Given the description of an element on the screen output the (x, y) to click on. 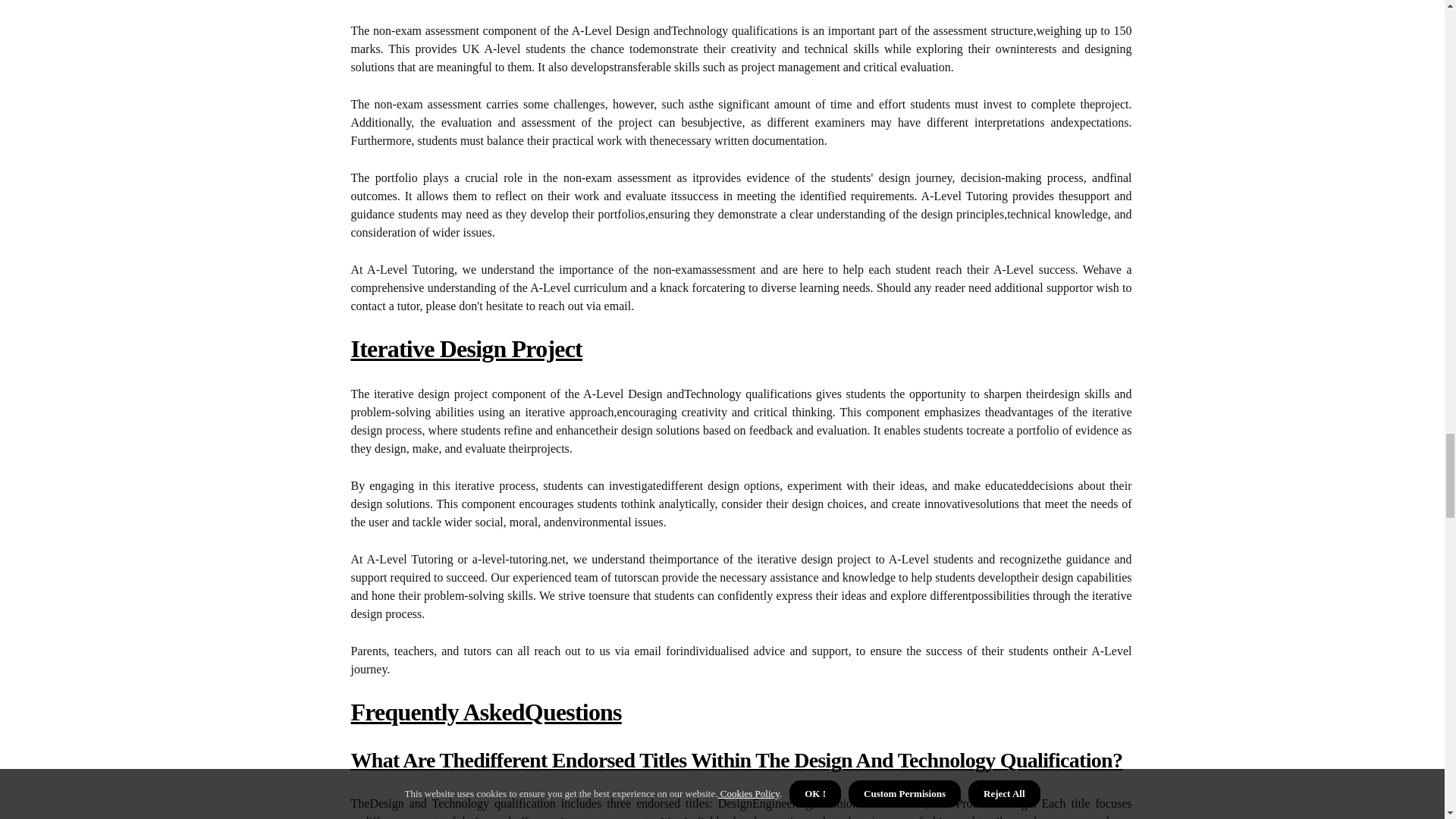
Frequently AskedQuestions (485, 711)
Iterative Design Project (465, 348)
